Given the description of an element on the screen output the (x, y) to click on. 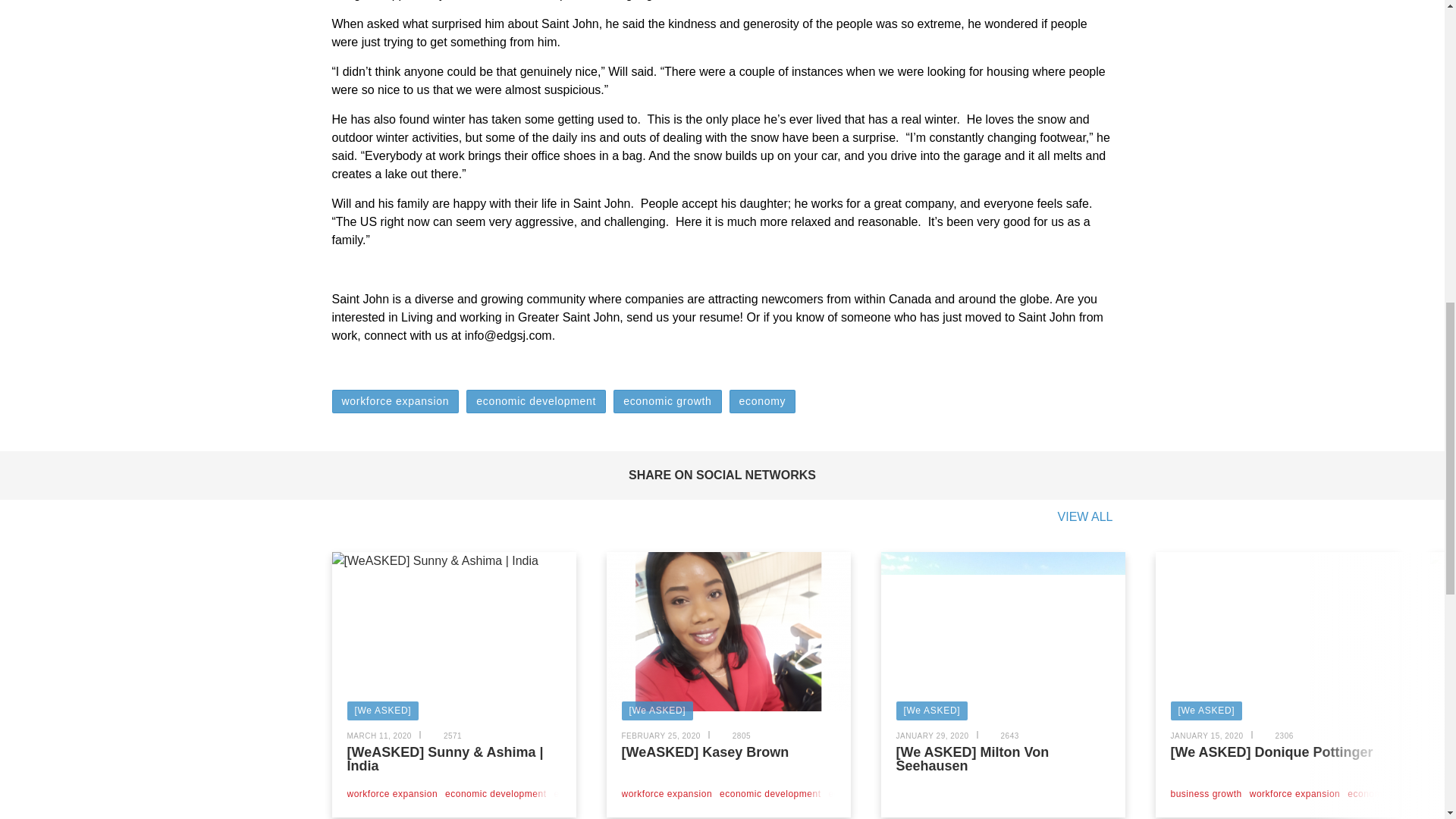
workforce expansion (395, 401)
resume (718, 317)
workforce expansion (392, 793)
economic development (535, 401)
economic growth (666, 401)
economy (762, 401)
VIEW ALL (1085, 516)
